Given the description of an element on the screen output the (x, y) to click on. 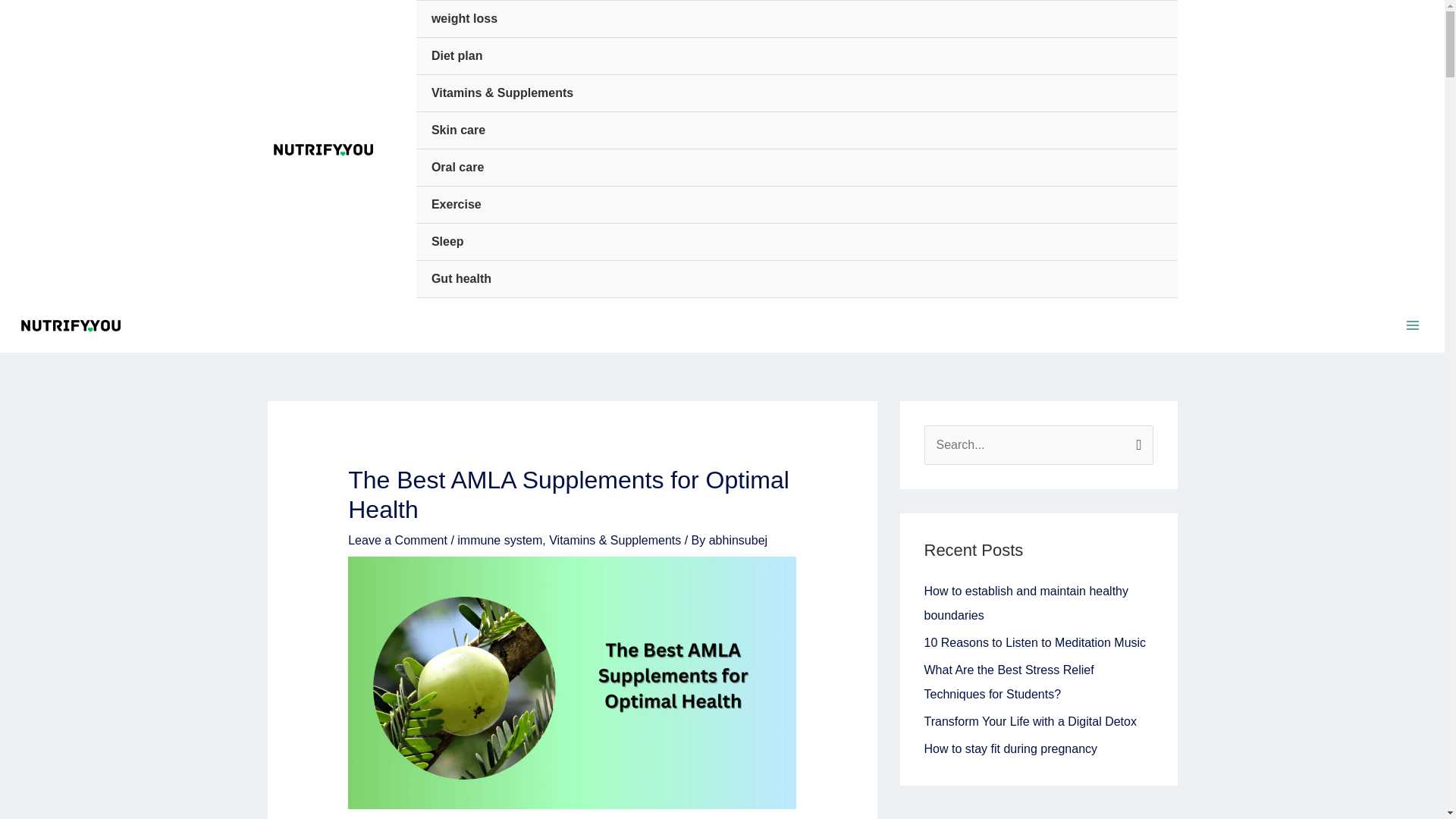
Exercise (796, 204)
Sleep (796, 242)
abhinsubej (738, 540)
Oral care (796, 167)
View all posts by abhinsubej (738, 540)
Diet plan (796, 56)
Leave a Comment (396, 540)
Gut health (796, 279)
immune system (499, 540)
Search (1136, 441)
Skin care (796, 130)
Main Menu (1412, 325)
Search (1136, 441)
weight loss (796, 18)
